Given the description of an element on the screen output the (x, y) to click on. 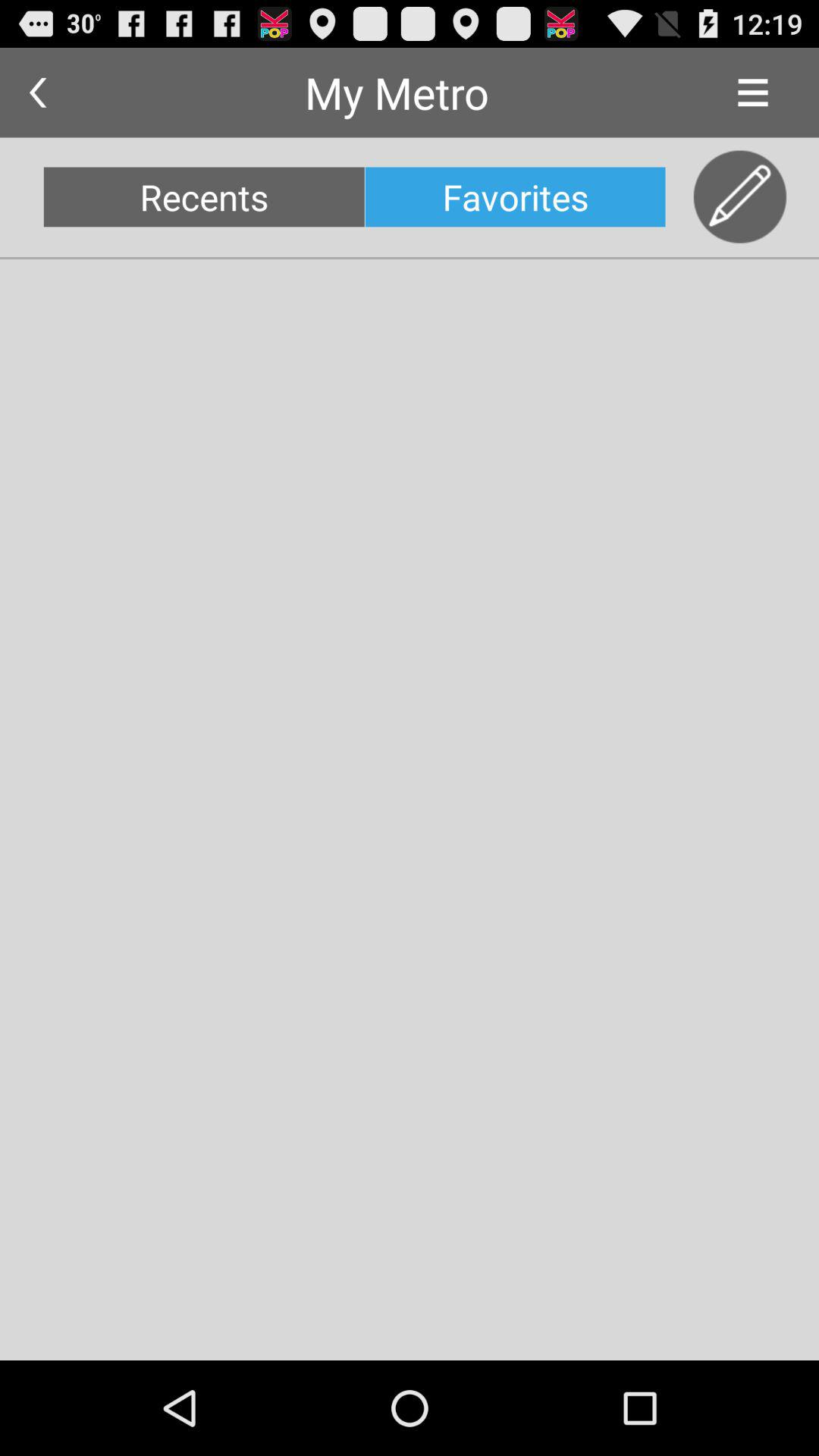
tap the favorites (515, 196)
